Given the description of an element on the screen output the (x, y) to click on. 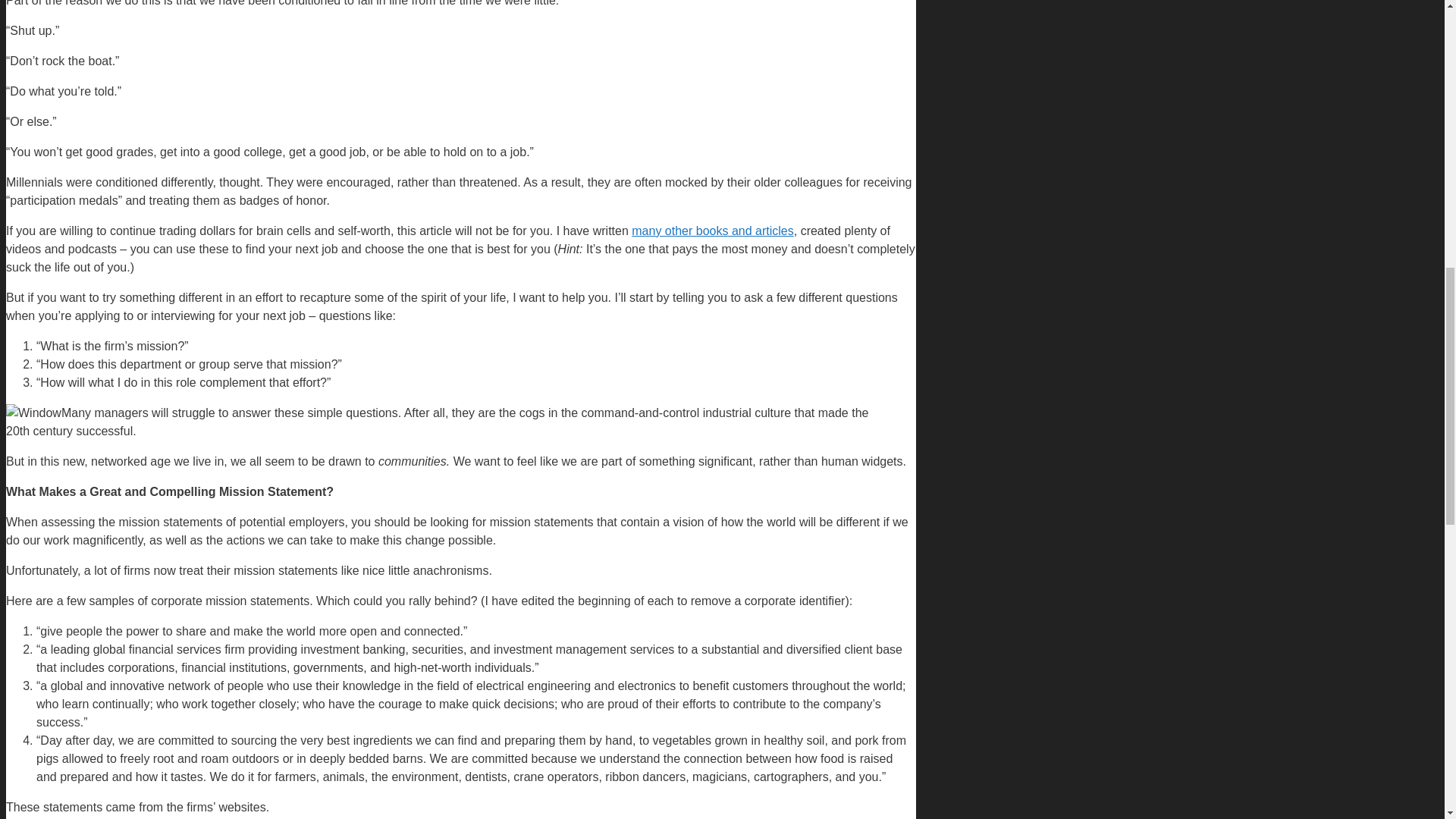
many other books and articles (712, 230)
